Given the description of an element on the screen output the (x, y) to click on. 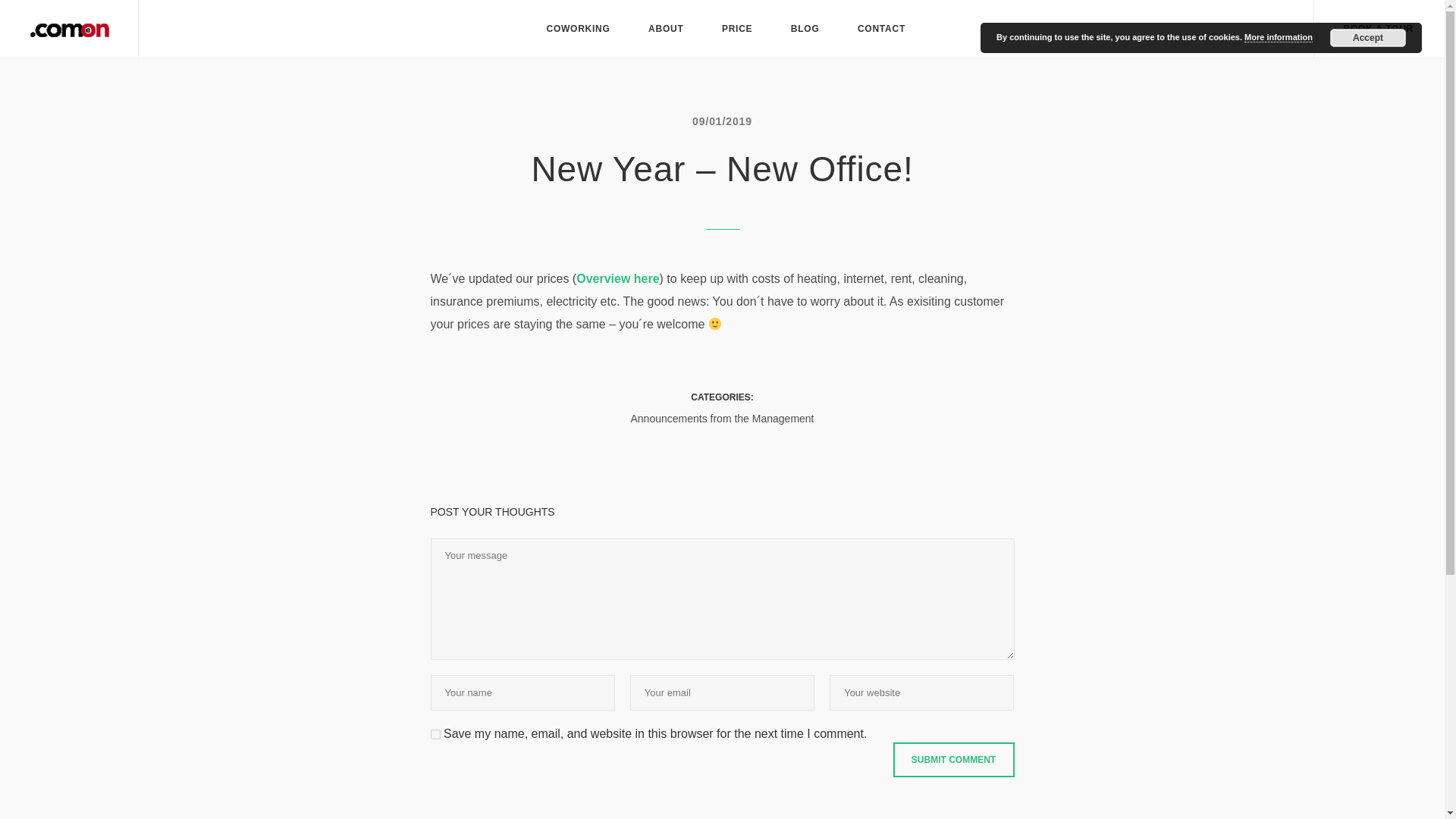
Accept (1368, 37)
BLOG (804, 29)
CONTACT (881, 29)
Submit Comment (953, 759)
Submit Comment (953, 759)
yes (435, 734)
COWORKING (578, 29)
More information (1278, 37)
Overview here (617, 278)
PRICE (737, 29)
